Given the description of an element on the screen output the (x, y) to click on. 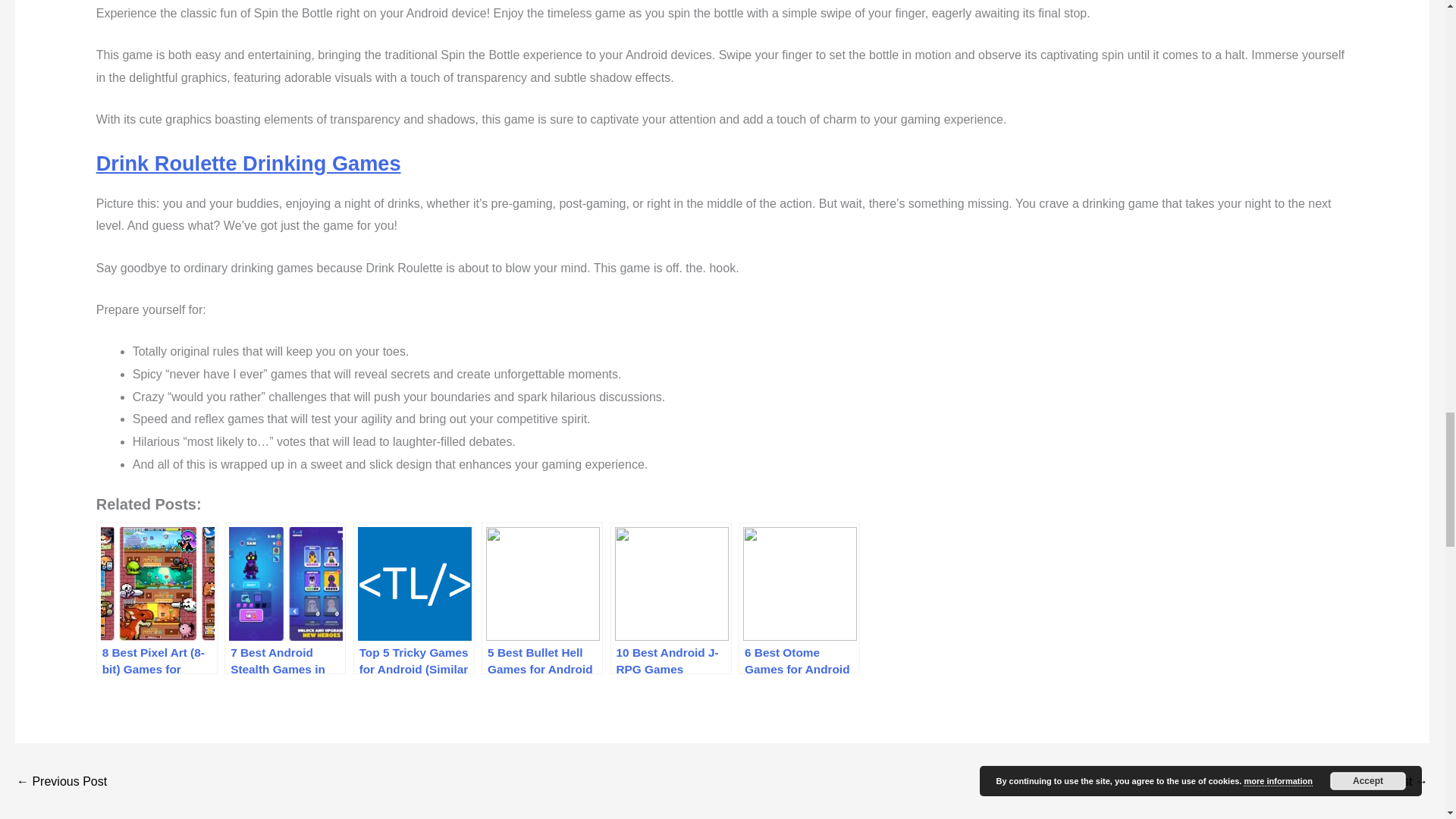
Drink Roulette Drinking Games (248, 163)
